Given the description of an element on the screen output the (x, y) to click on. 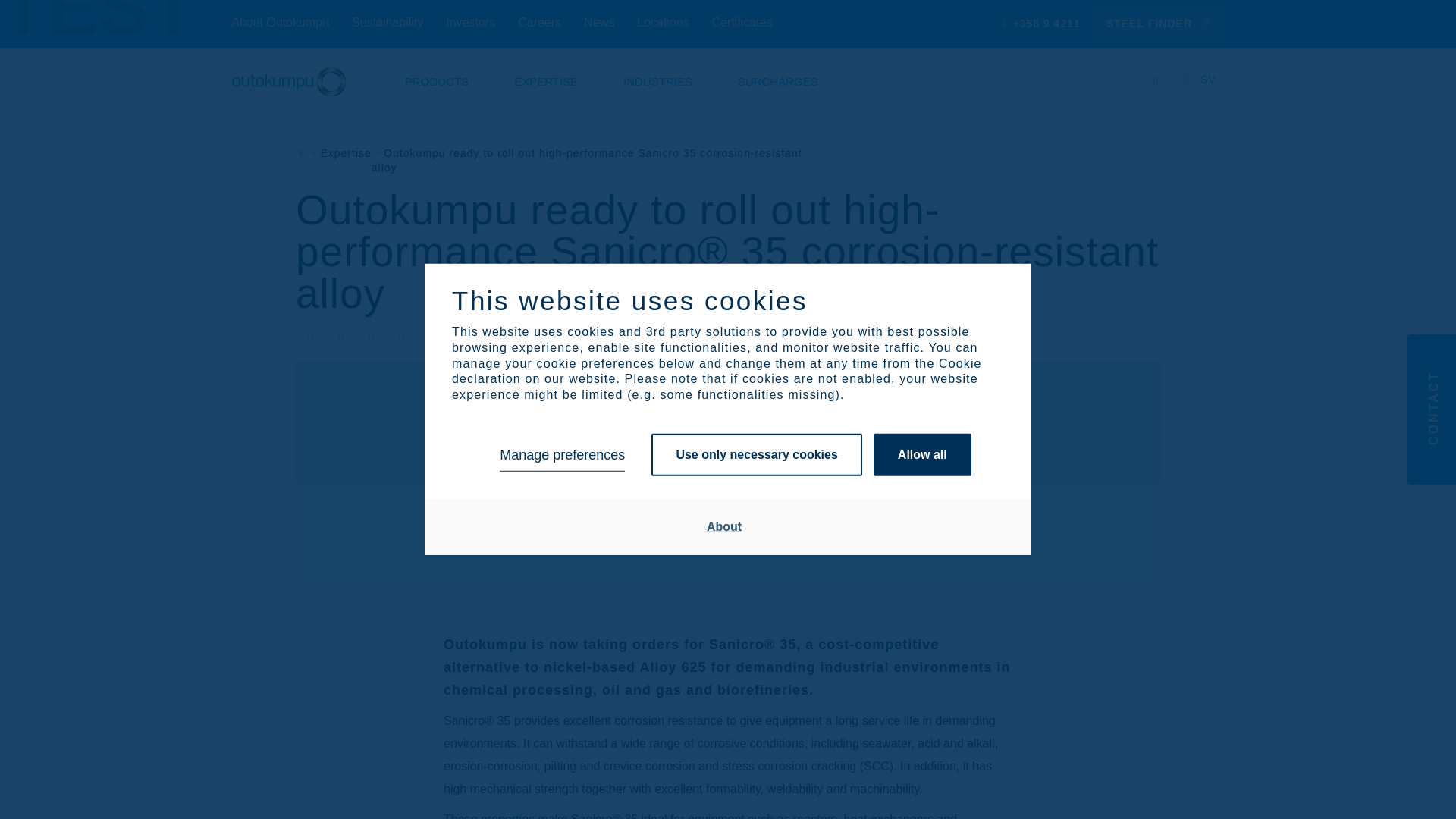
Use only necessary cookies (755, 454)
Allow all (922, 454)
About (724, 526)
Manage preferences (561, 454)
